Given the description of an element on the screen output the (x, y) to click on. 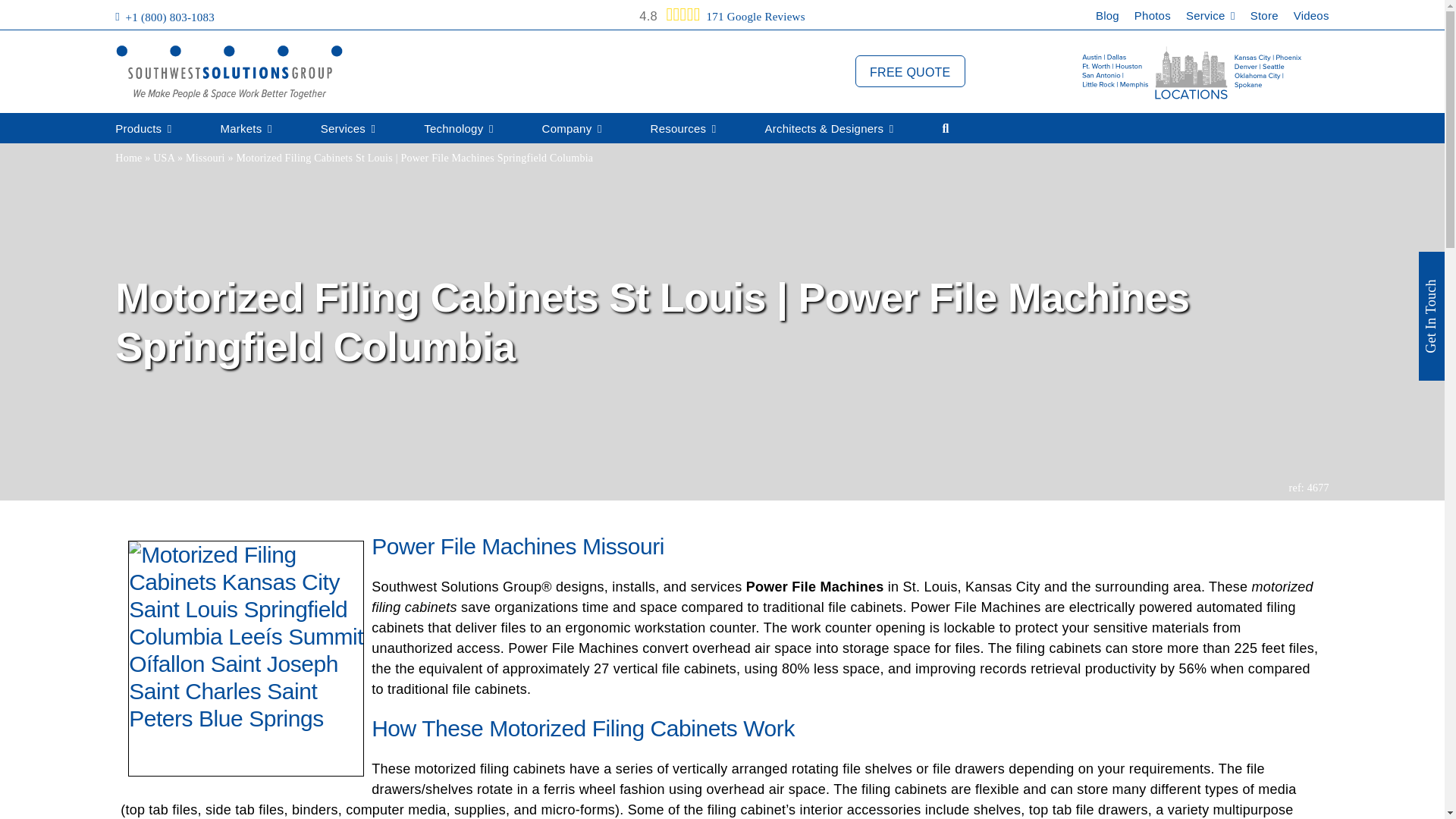
Videos (1311, 19)
Service (1210, 19)
Photos (1152, 19)
Products (143, 128)
Find a local office (1192, 72)
FREE QUOTE (909, 70)
